Given the description of an element on the screen output the (x, y) to click on. 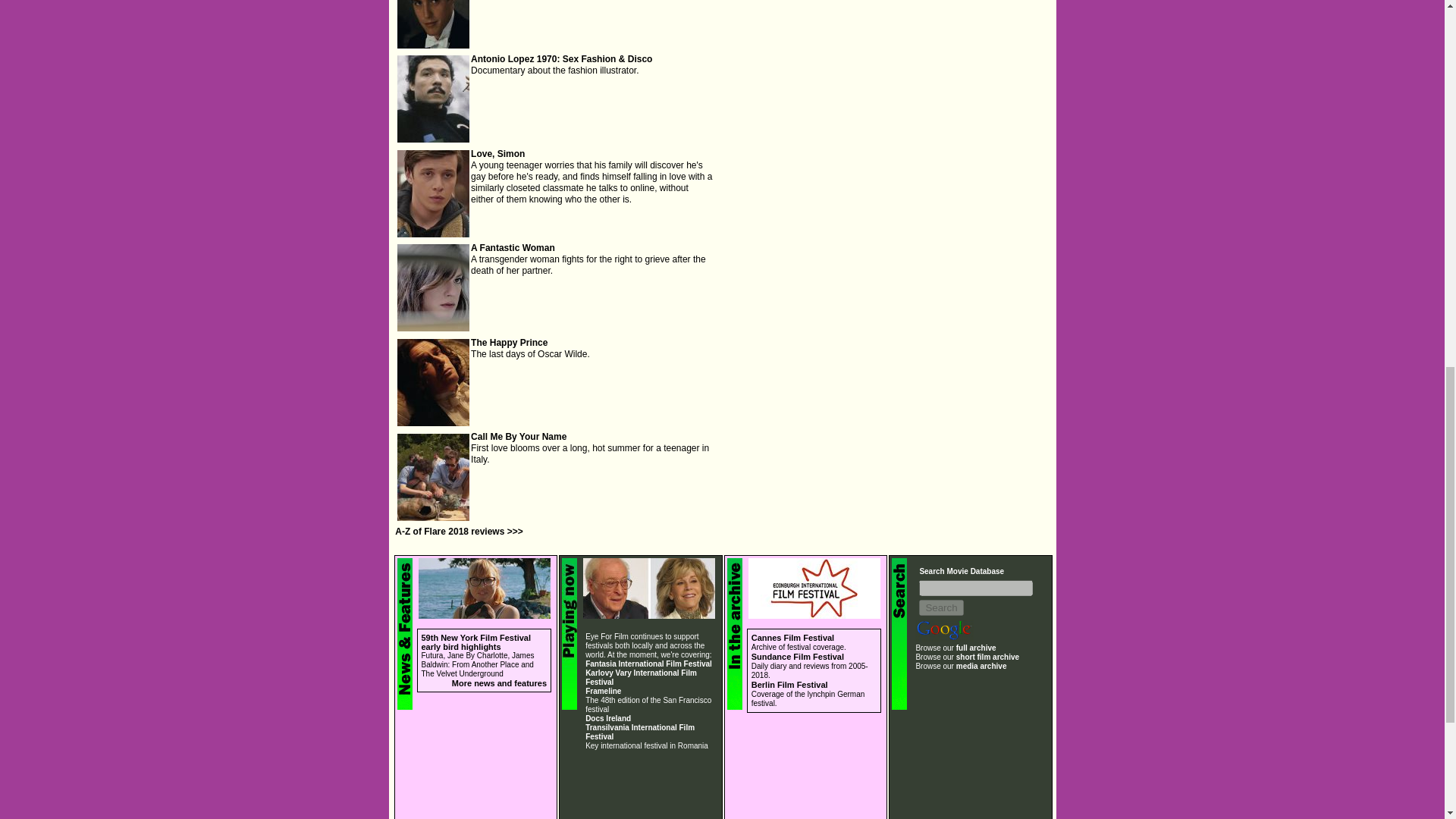
Search (940, 607)
